Given the description of an element on the screen output the (x, y) to click on. 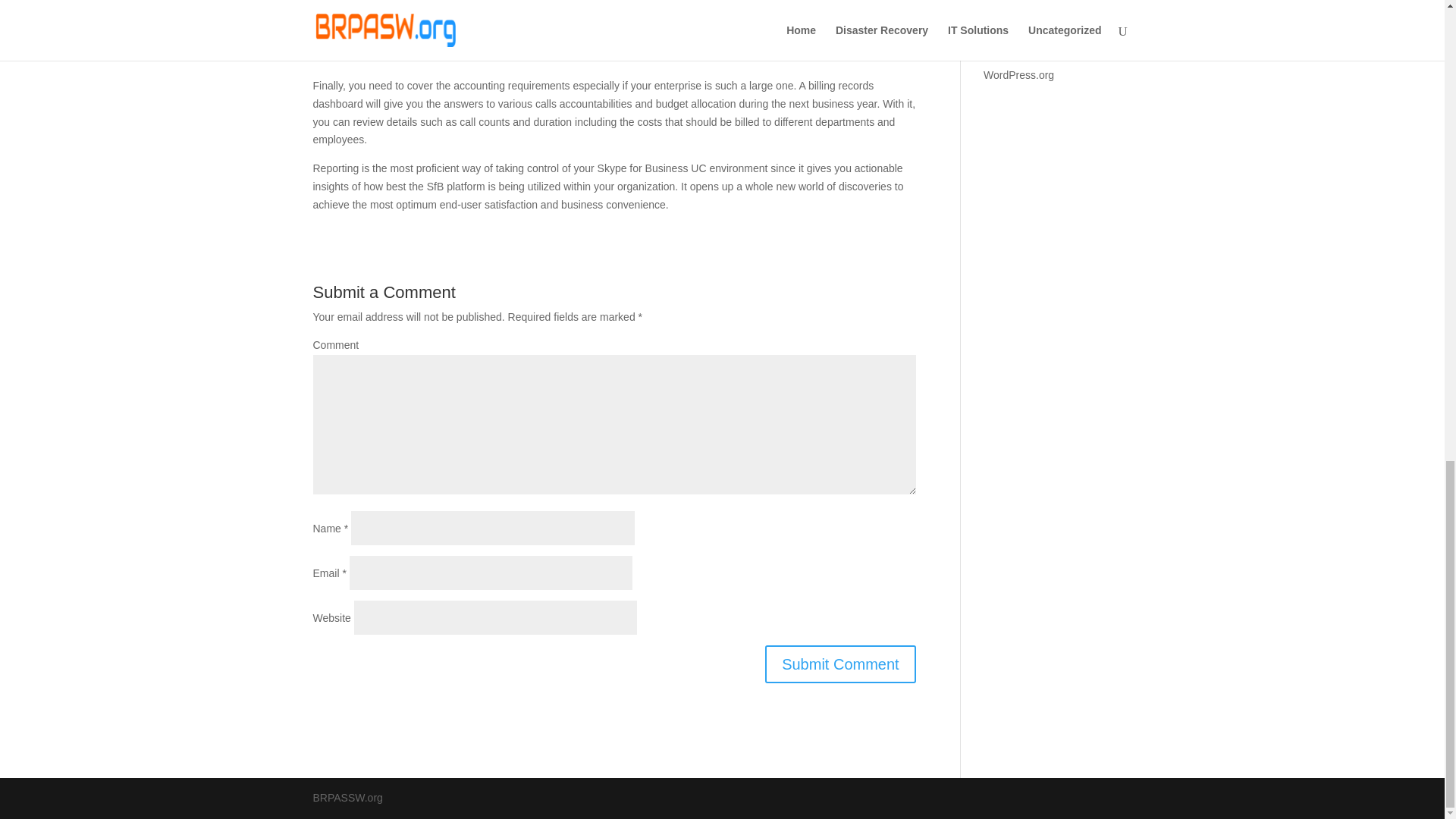
Log in (997, 5)
Submit Comment (840, 664)
WordPress.org (1019, 74)
Submit Comment (840, 664)
Comments feed (1021, 51)
Entries feed (1012, 28)
